Given the description of an element on the screen output the (x, y) to click on. 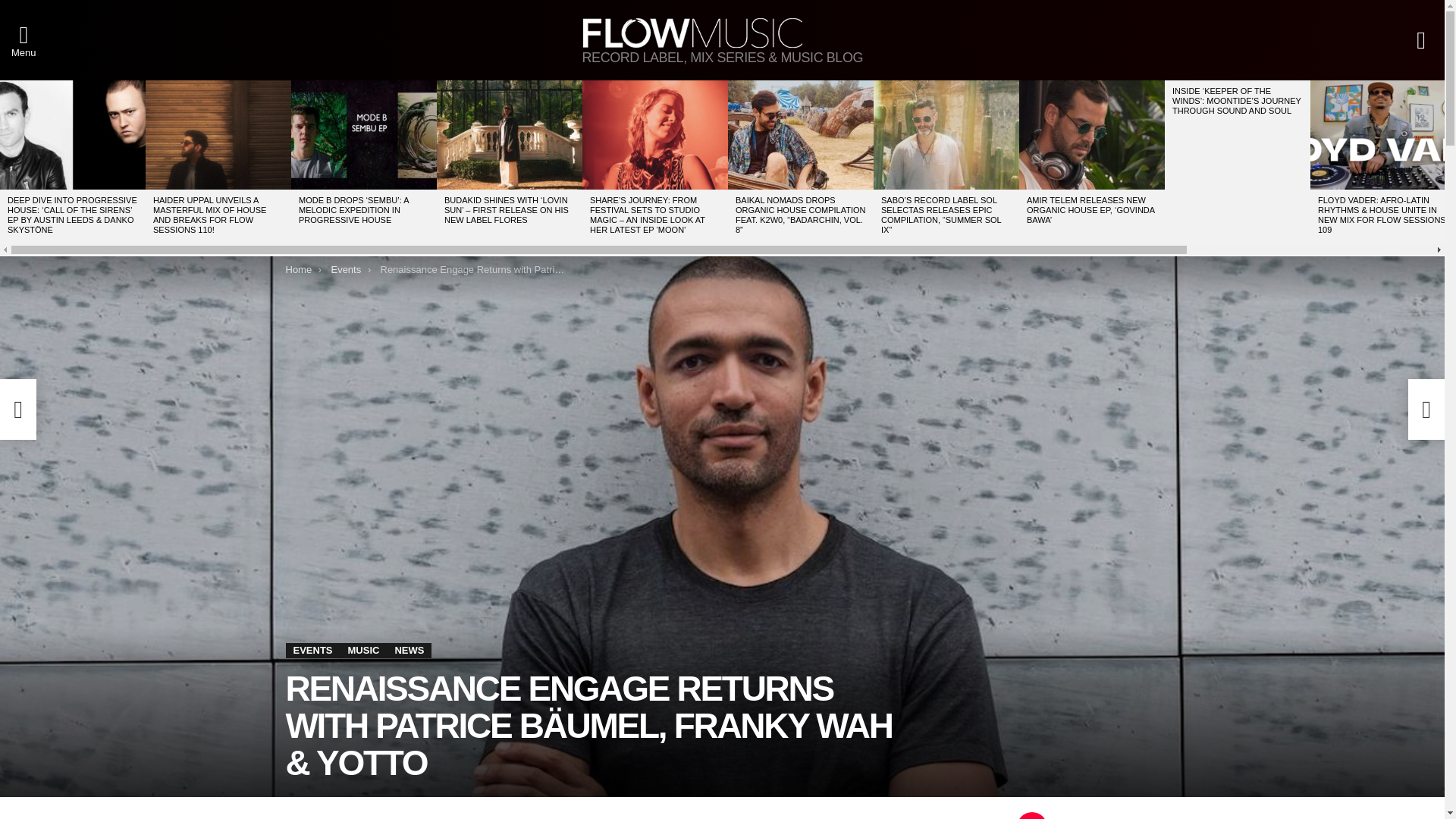
NEWS (408, 650)
Events (345, 269)
MUSIC (363, 650)
EVENTS (312, 650)
Home (298, 269)
